Given the description of an element on the screen output the (x, y) to click on. 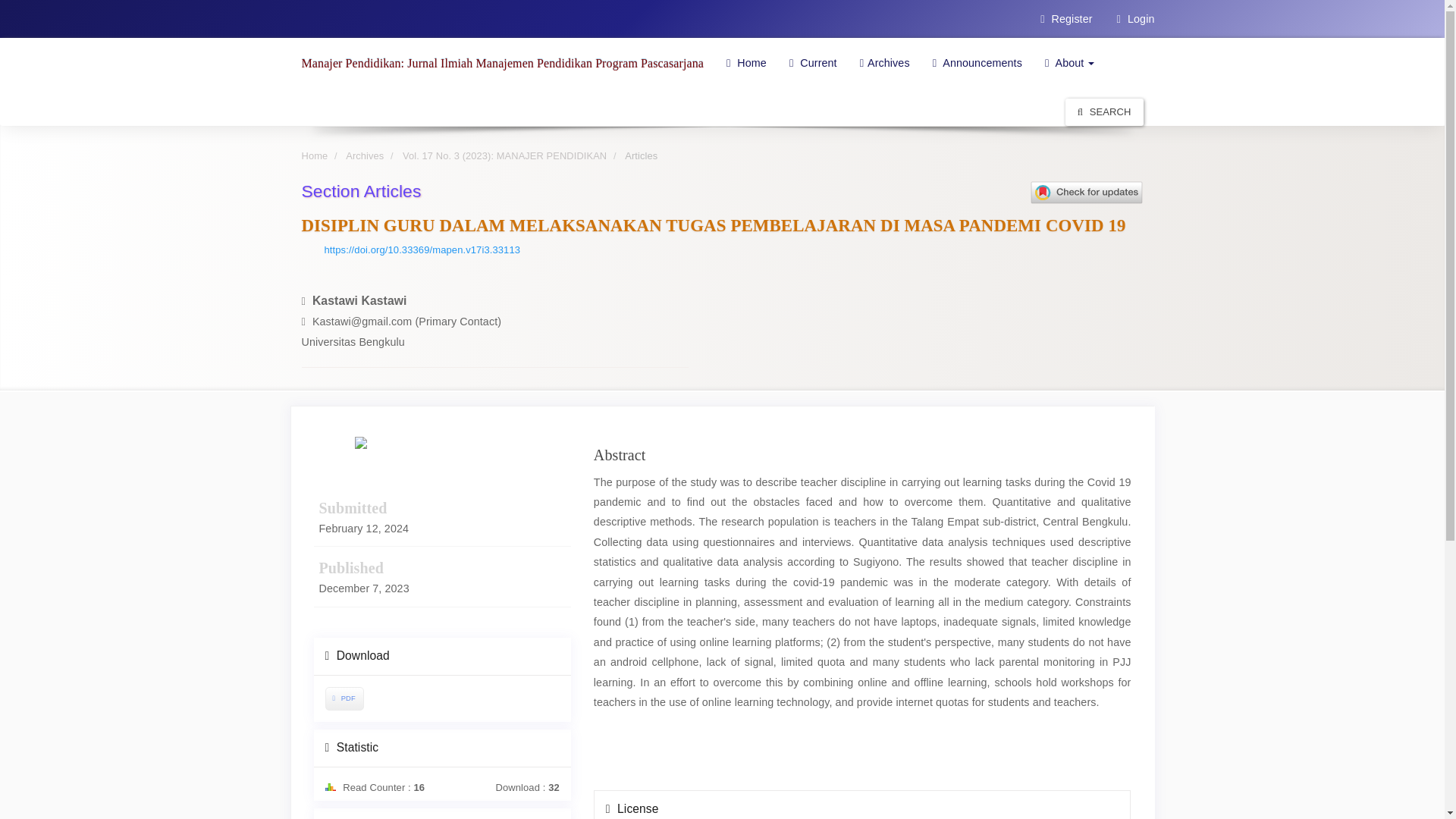
SEARCH (1103, 112)
Home (315, 155)
Register (1066, 18)
Download on article page (343, 697)
About (1069, 62)
Login (1135, 18)
SEARCH (1103, 111)
Archives (365, 155)
PDF (343, 698)
Home (745, 62)
Current (812, 62)
Announcements (977, 62)
Archives (884, 62)
